Given the description of an element on the screen output the (x, y) to click on. 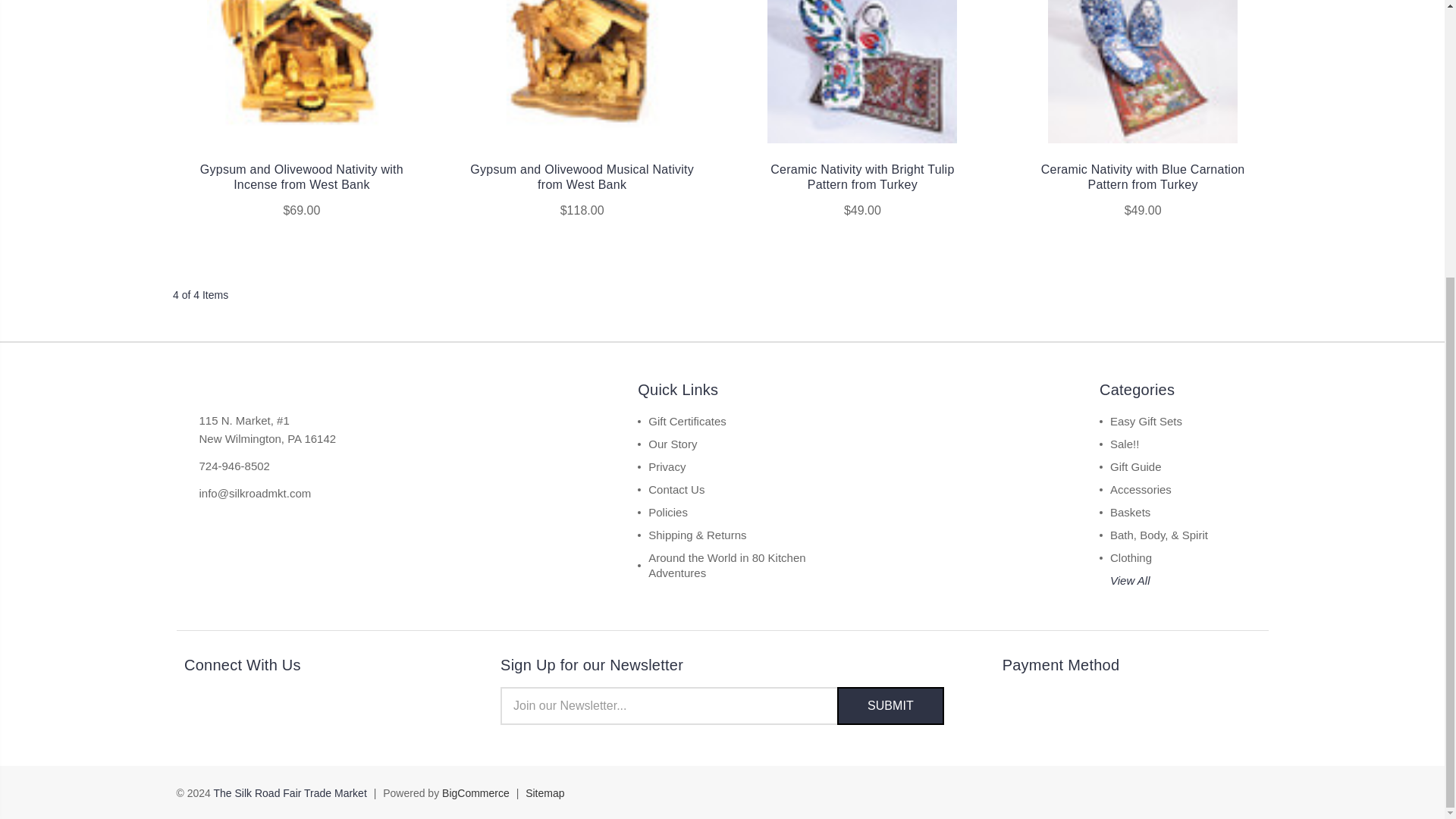
submit (890, 705)
